Given the description of an element on the screen output the (x, y) to click on. 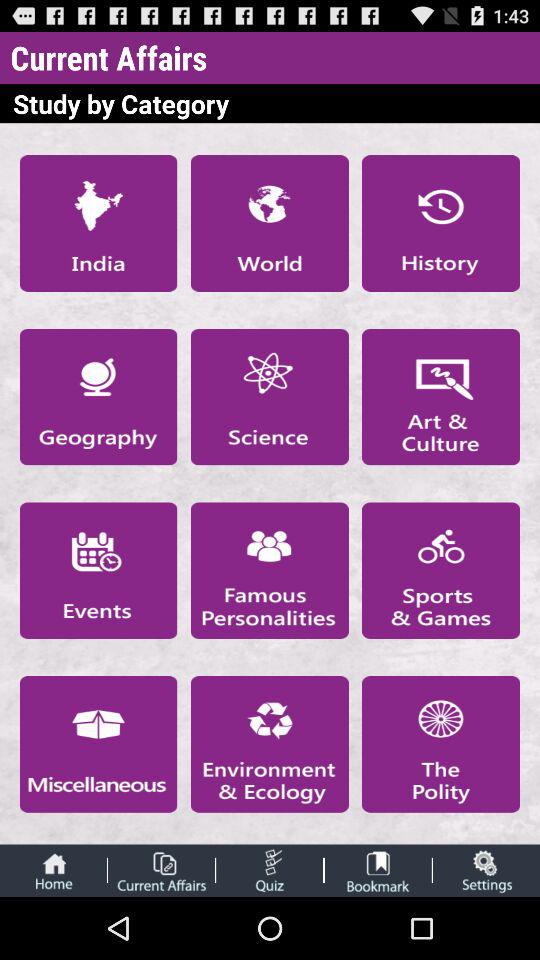
bookmark tab (378, 870)
